Given the description of an element on the screen output the (x, y) to click on. 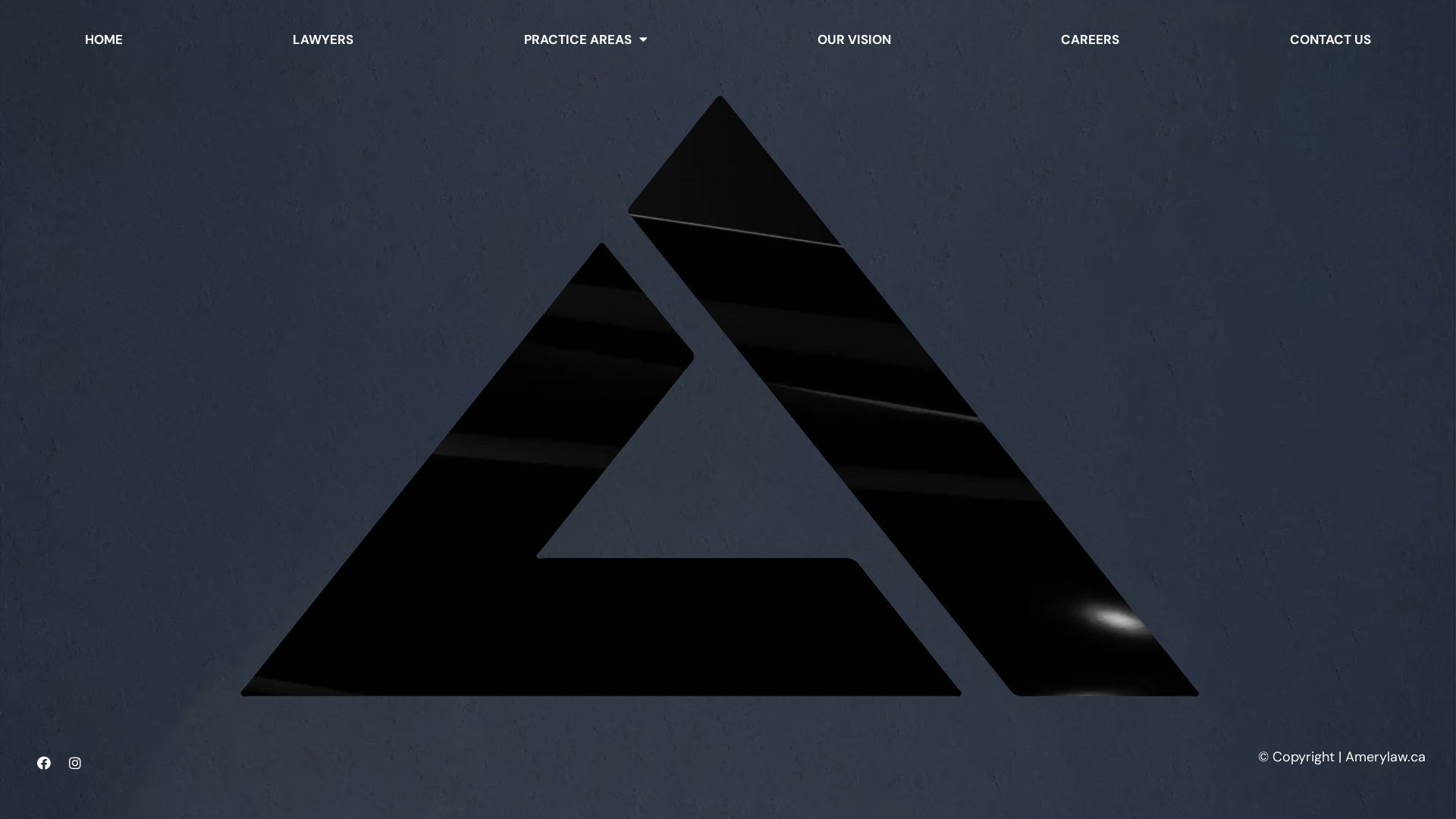
CAREERS Element type: text (1089, 38)
LAWYERS Element type: text (322, 38)
PRACTICE AREAS Element type: text (585, 38)
OUR VISION Element type: text (853, 38)
HOME Element type: text (103, 38)
